Given the description of an element on the screen output the (x, y) to click on. 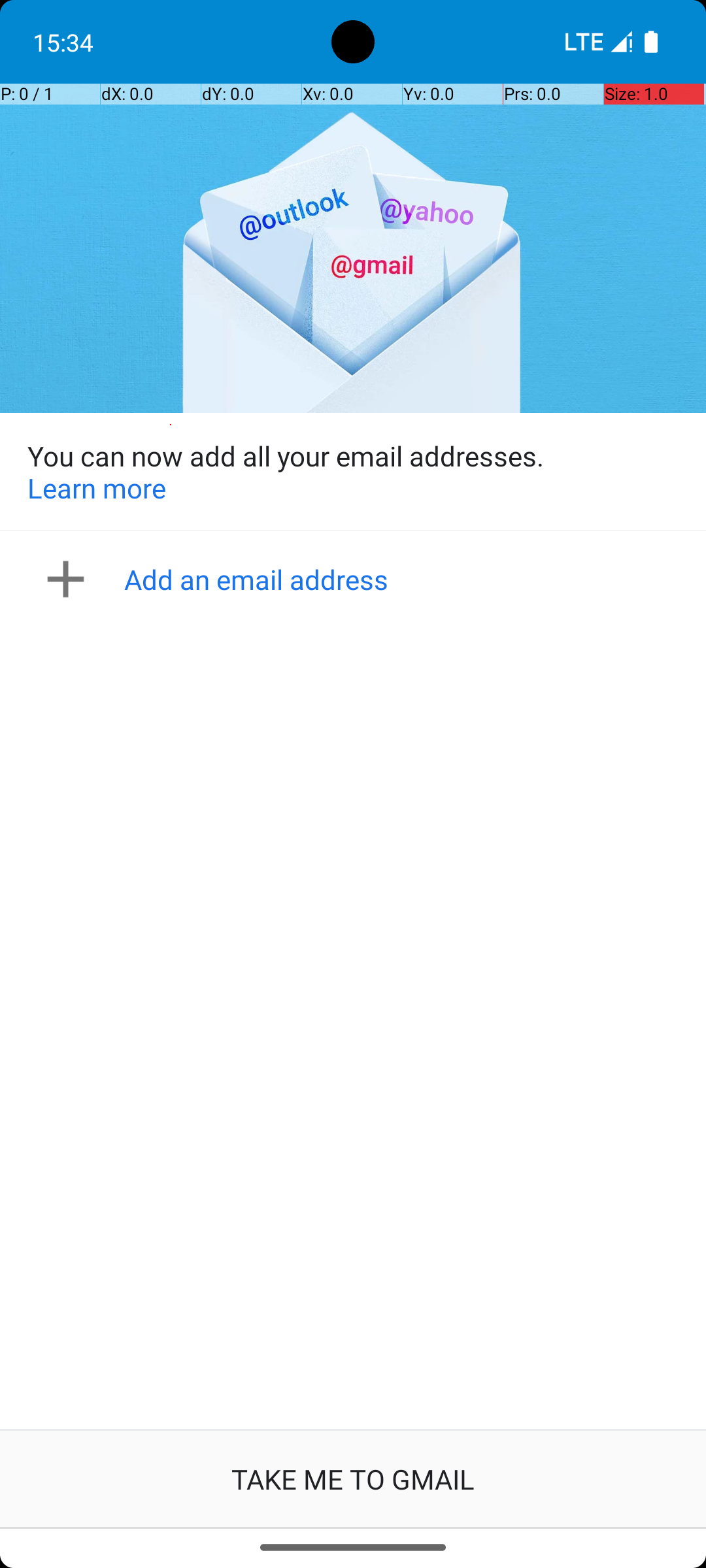
You can now add all your email addresses. Learn more Element type: android.widget.TextView (352, 471)
TAKE ME TO GMAIL Element type: android.widget.TextView (353, 1478)
Add an email address Element type: android.widget.TextView (356, 579)
